Given the description of an element on the screen output the (x, y) to click on. 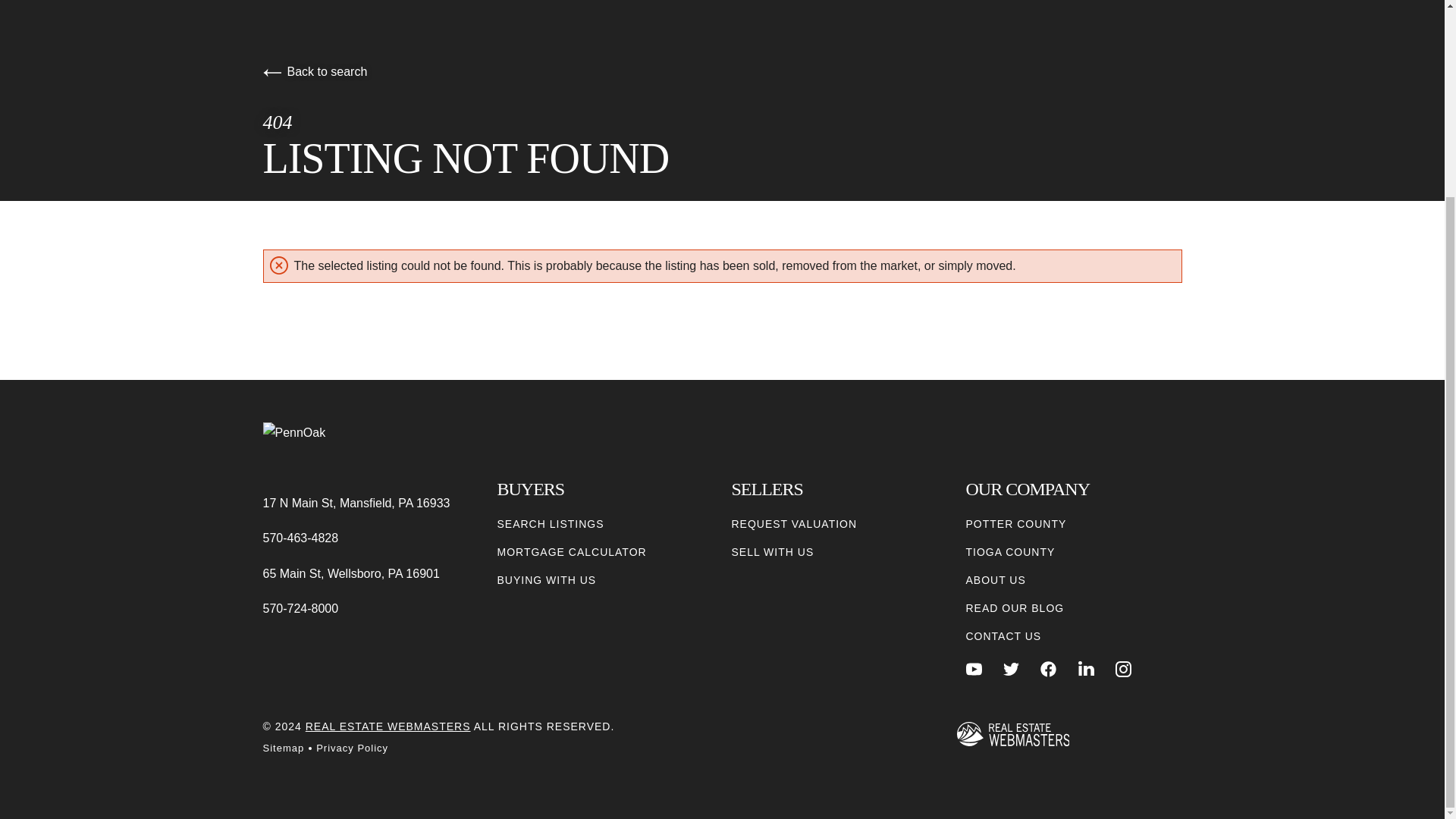
REQUEST VALUATION (793, 524)
BUYING WITH US (546, 580)
SELL WITH US (771, 552)
TWITTER (1011, 668)
ABOUT US (996, 580)
CONTACT US (1004, 636)
MORTGAGE CALCULATOR (571, 552)
FACEBOOK (1049, 668)
TWITTER (1011, 668)
READ OUR BLOG (1015, 608)
